Given the description of an element on the screen output the (x, y) to click on. 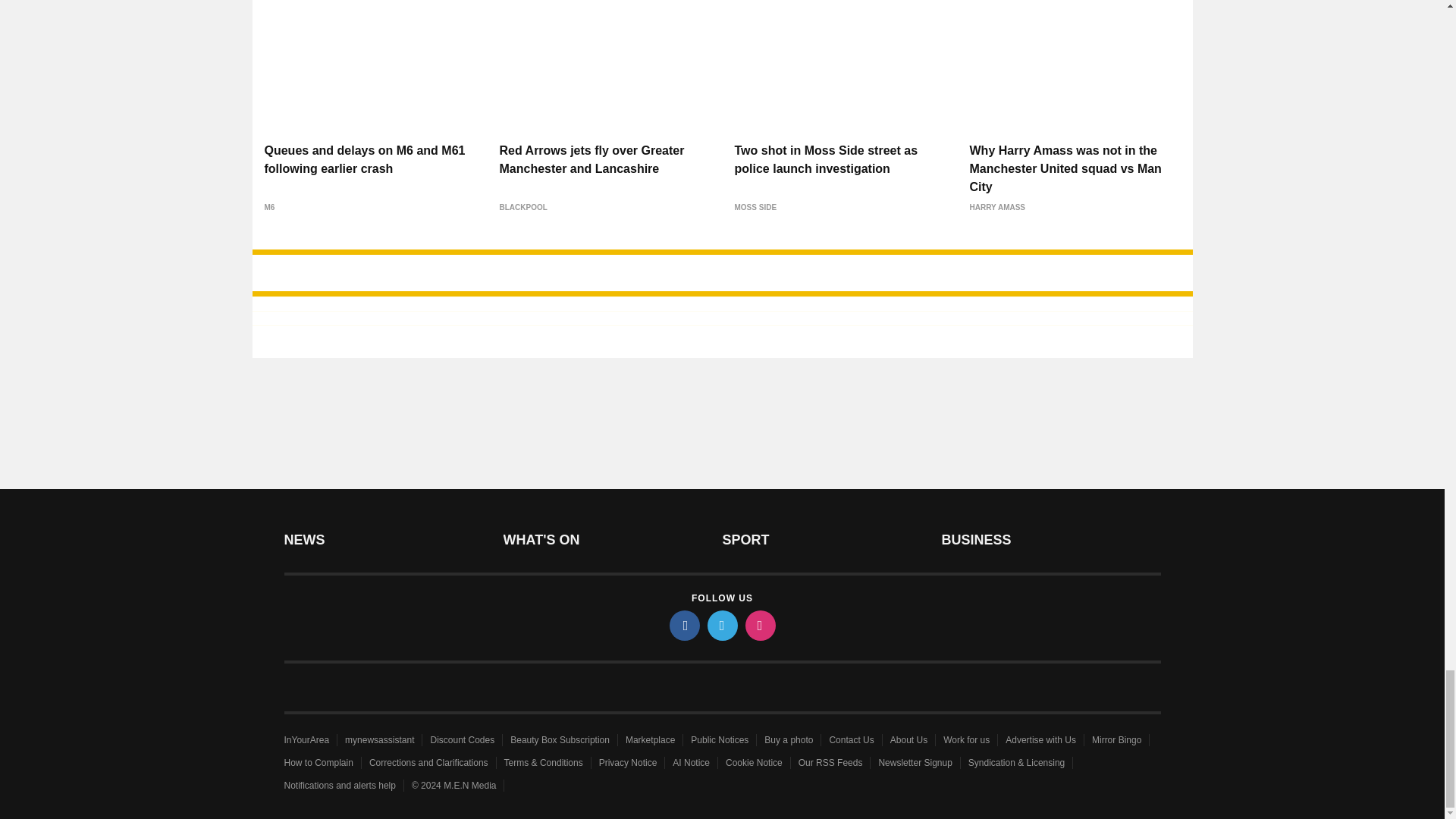
instagram (759, 625)
facebook (683, 625)
twitter (721, 625)
